Given the description of an element on the screen output the (x, y) to click on. 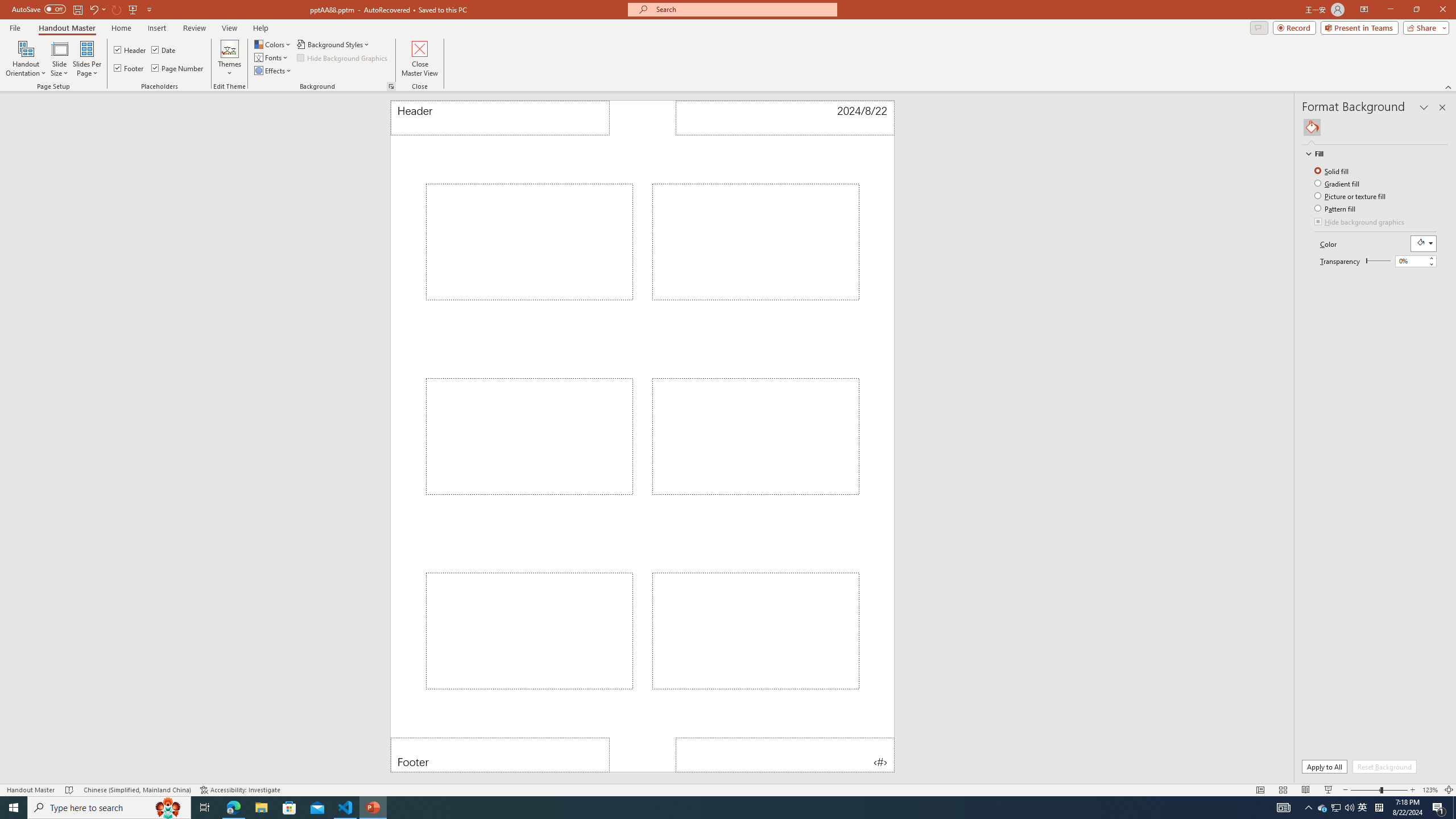
Header (500, 117)
Transparency (1377, 260)
Header (130, 49)
Fill (1370, 153)
Reset Background (1384, 766)
